Given the description of an element on the screen output the (x, y) to click on. 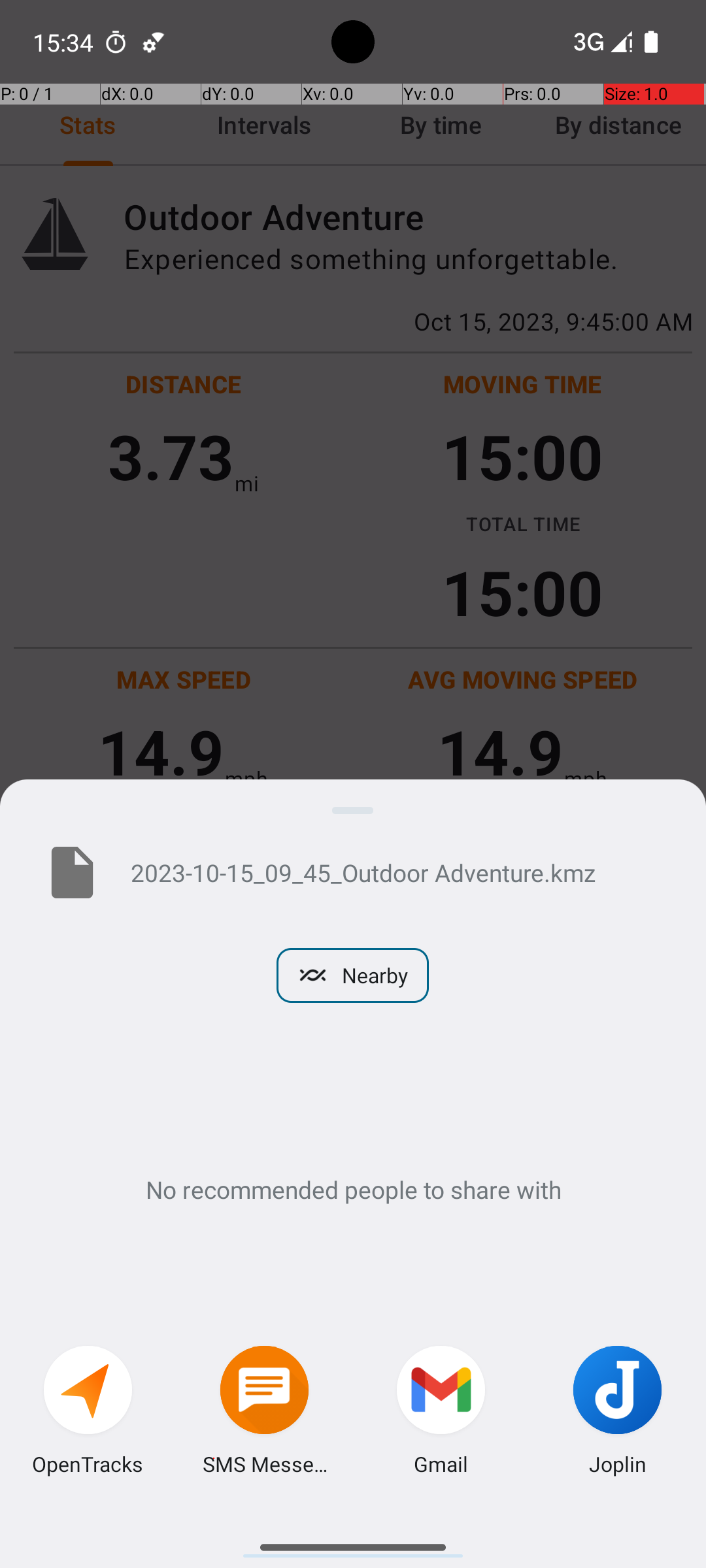
2023-10-15_09_45_Outdoor Adventure.kmz Element type: android.widget.TextView (397, 872)
